Given the description of an element on the screen output the (x, y) to click on. 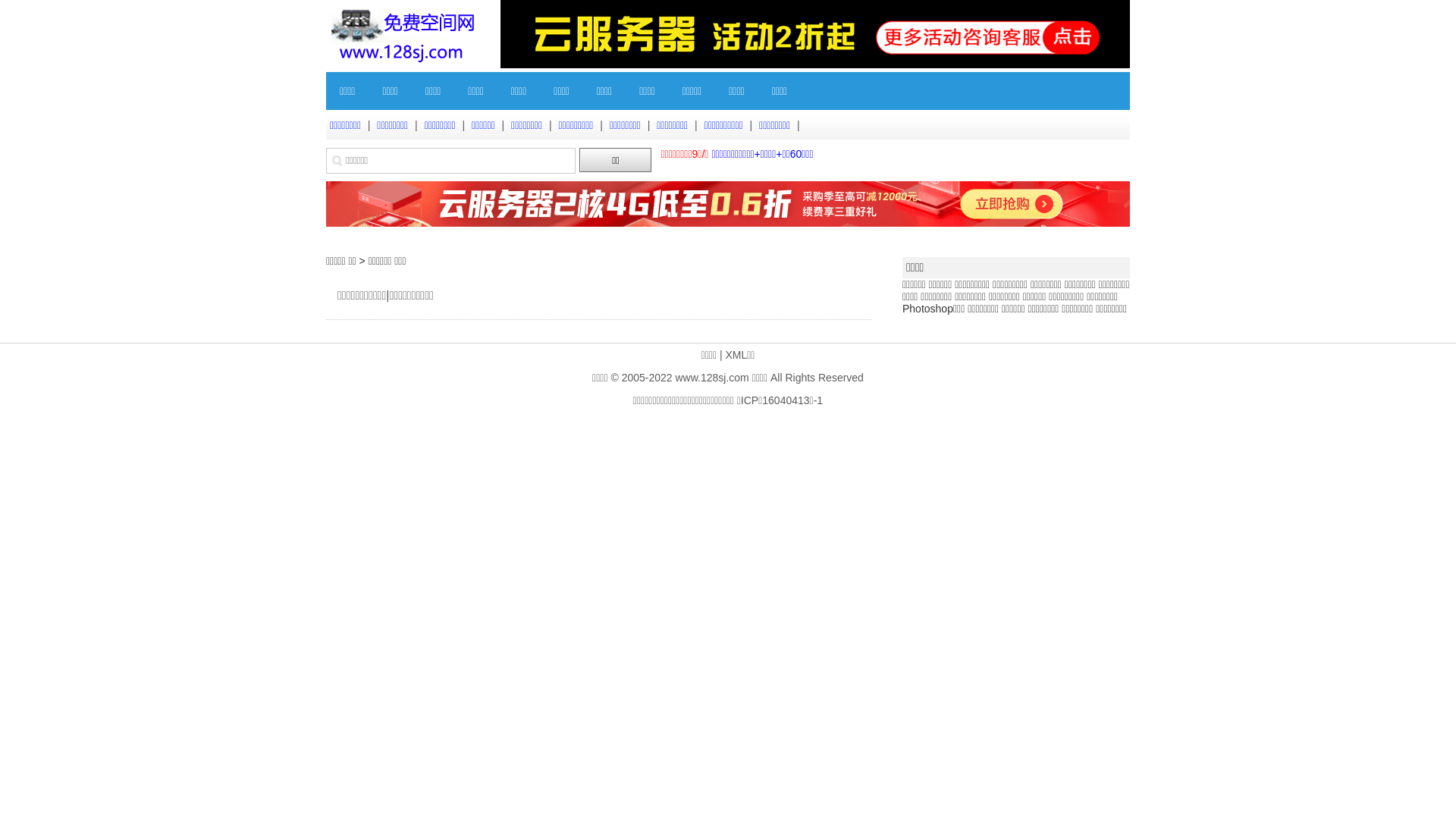
www.128sj.com Element type: text (711, 377)
